Given the description of an element on the screen output the (x, y) to click on. 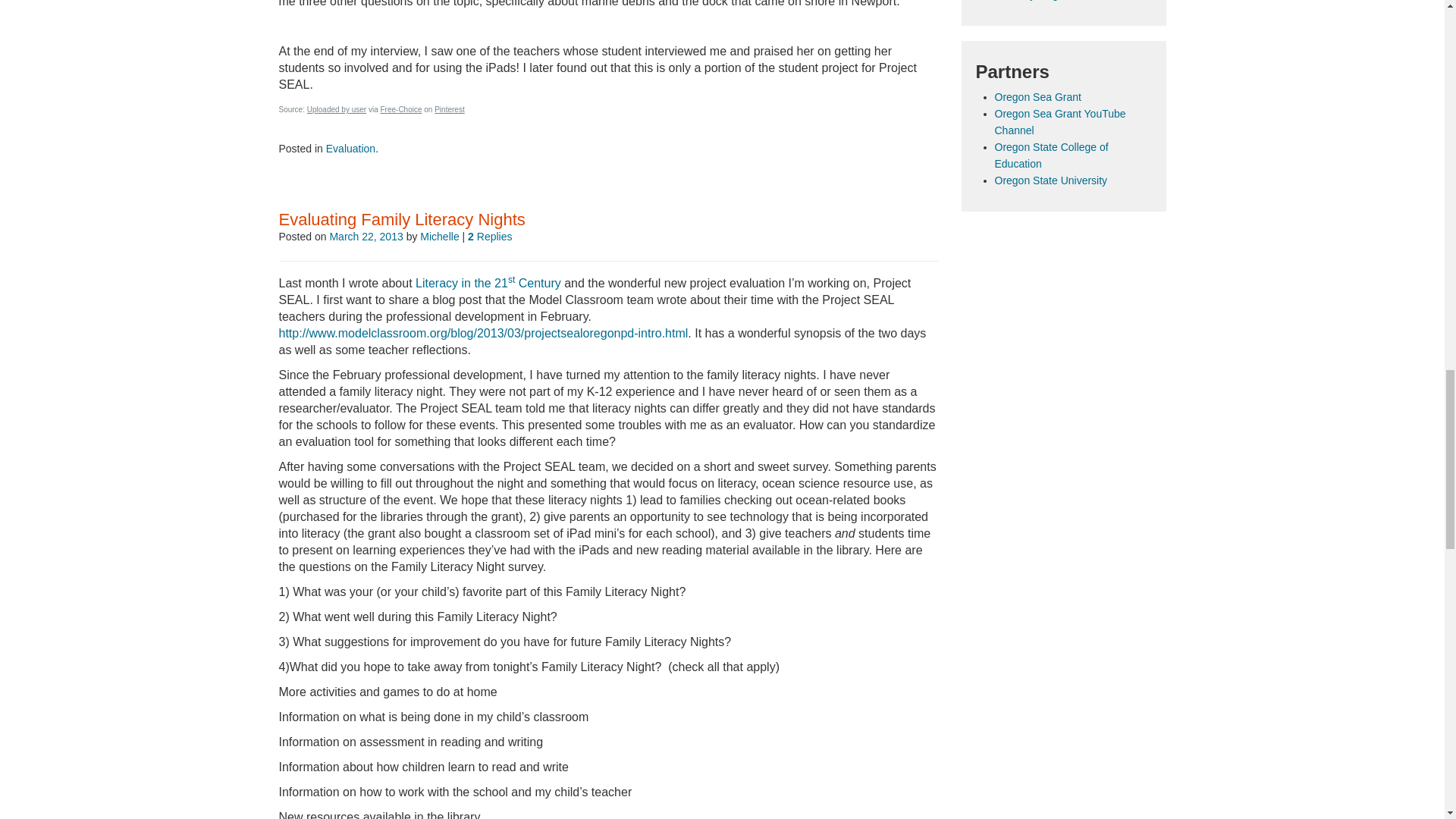
Evaluating Family Literacy Nights (402, 219)
March 22, 2013 (366, 236)
Michelle (439, 236)
Permalink to Evaluating Family Literacy Nights (402, 219)
Uploaded by user (336, 109)
Pinterest (448, 109)
Literacy in the 21st Century (487, 282)
Evaluation (350, 148)
Free-Choice (401, 109)
2 Replies (489, 236)
